Given the description of an element on the screen output the (x, y) to click on. 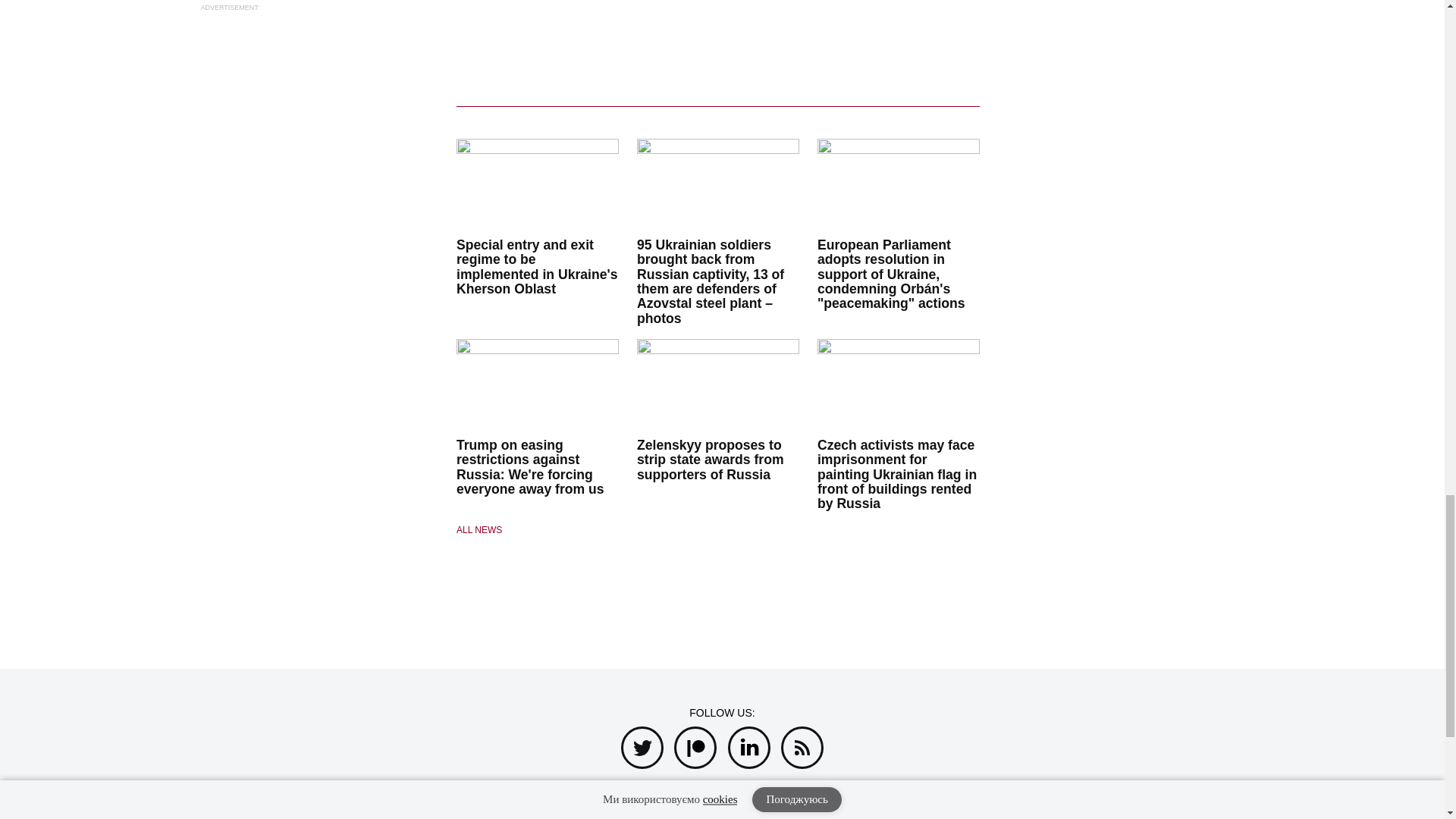
ALL NEWS (537, 529)
